Given the description of an element on the screen output the (x, y) to click on. 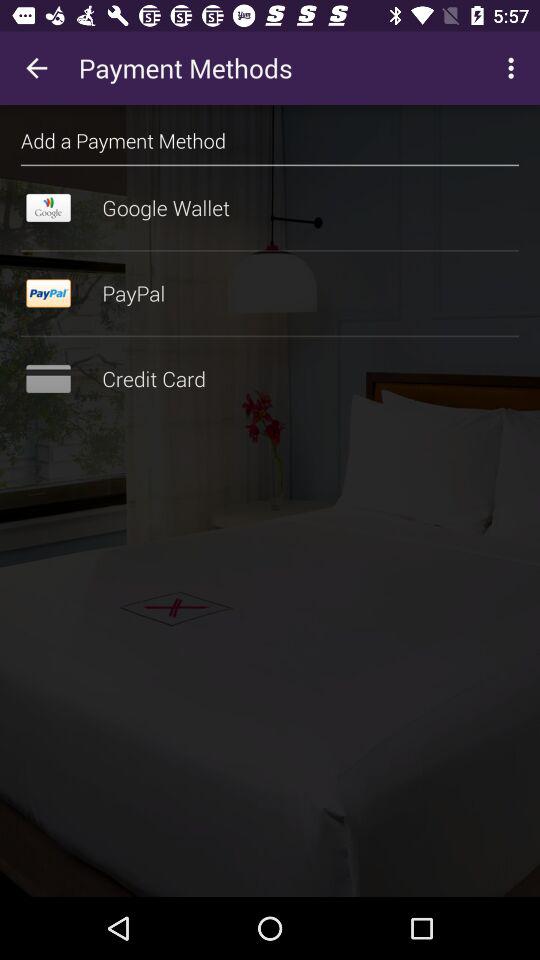
swipe until the add a payment icon (123, 140)
